Given the description of an element on the screen output the (x, y) to click on. 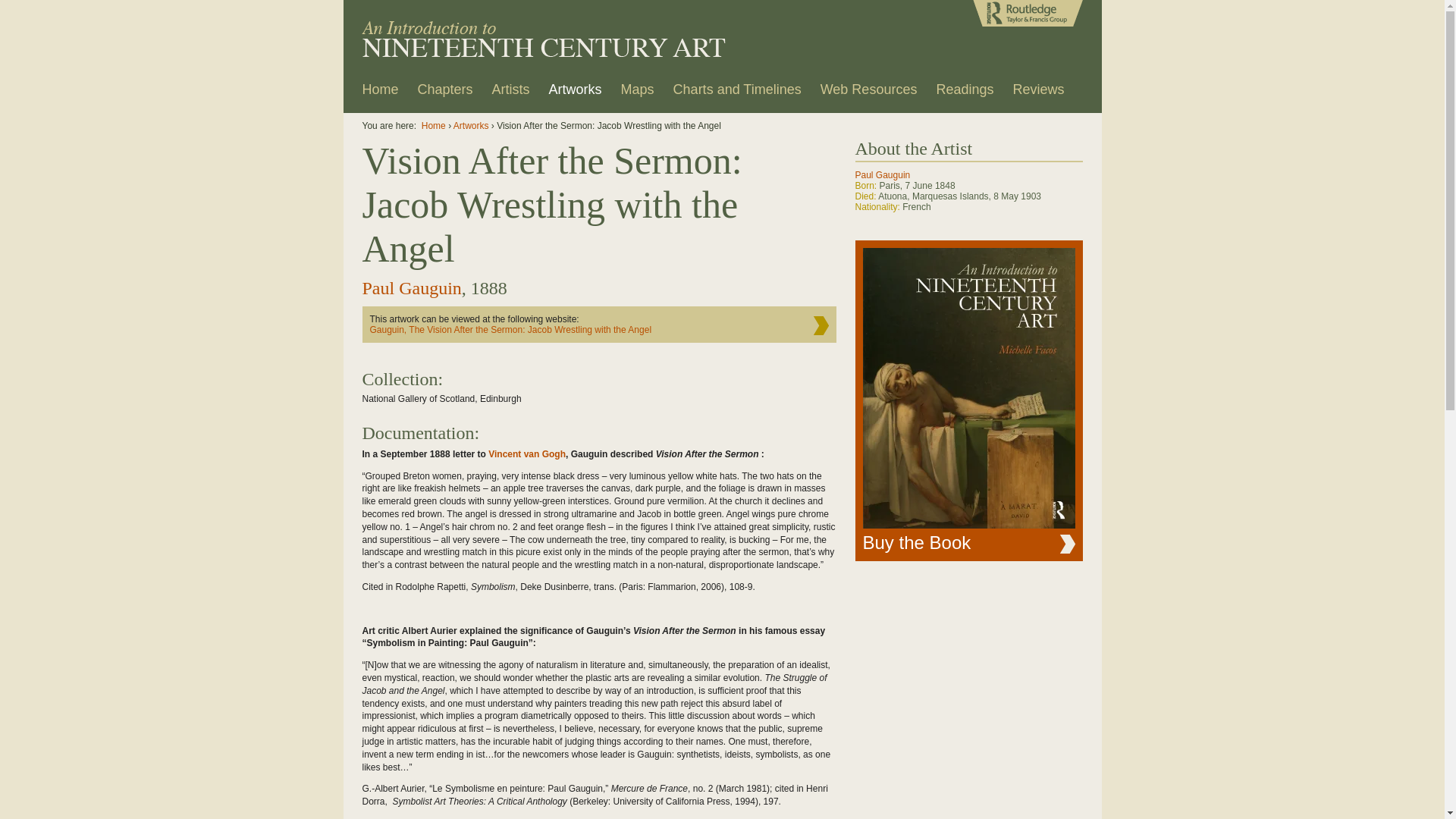
Paul Gauguin Element type: text (882, 174)
Artworks Element type: text (471, 125)
Paul Gauguin Element type: text (411, 288)
Buy the Book Element type: text (968, 400)
Artists Element type: text (510, 93)
Maps Element type: text (637, 93)
Home Element type: text (380, 93)
Reviews Element type: text (1037, 93)
Charts and Timelines Element type: text (737, 93)
Web Resources Element type: text (868, 93)
Artworks Element type: text (575, 93)
Vincent van Gogh Element type: text (526, 453)
Home Element type: text (433, 125)
Readings Element type: text (964, 93)
Chapters Element type: text (445, 93)
